Given the description of an element on the screen output the (x, y) to click on. 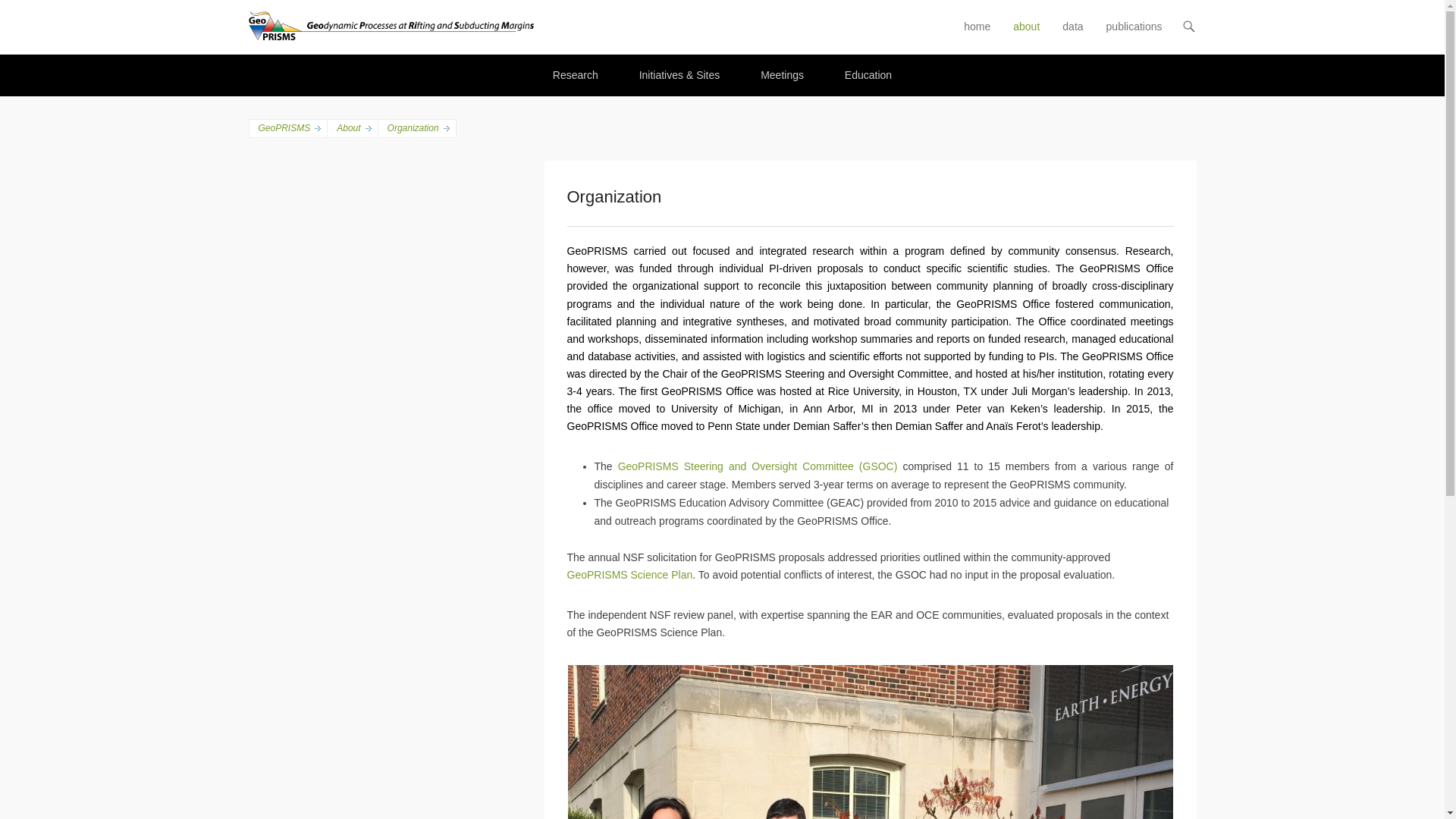
about (1026, 35)
Go to About. (352, 128)
GeoPRISMS (586, 20)
data (1072, 35)
Skip to content (991, 27)
Skip to content (991, 27)
Go to Organization. (416, 128)
Go to GeoPRISMS. (287, 128)
home (976, 35)
GeoPRISMS (586, 20)
